Given the description of an element on the screen output the (x, y) to click on. 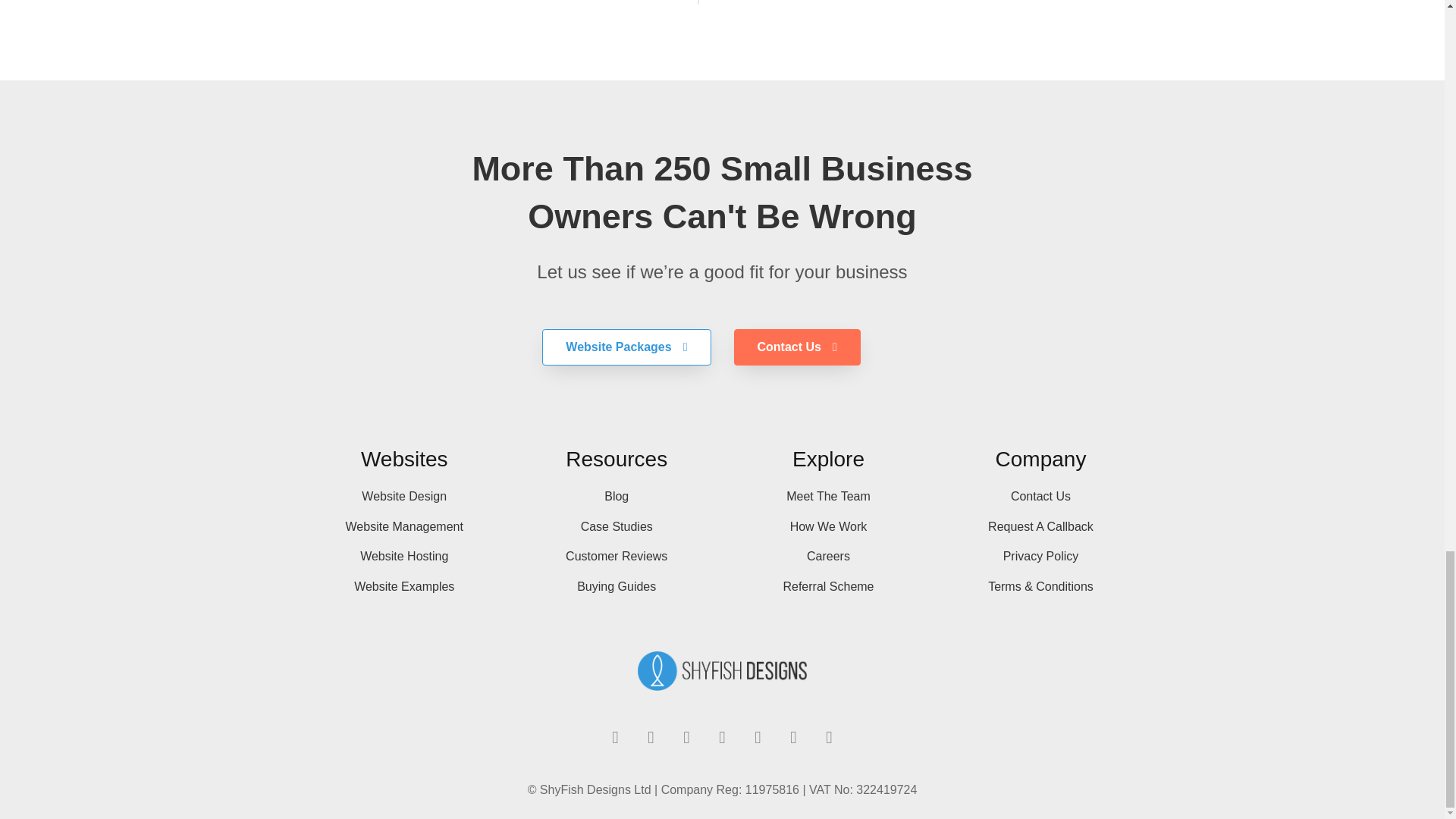
Website Hosting (404, 556)
Contact Us (796, 347)
Meet The Team (828, 496)
Website Packages (625, 347)
Customer Reviews (616, 556)
Website Management (404, 526)
Website Design (404, 496)
Website Examples (404, 586)
Case Studies (616, 526)
Buying Guides (616, 586)
